Given the description of an element on the screen output the (x, y) to click on. 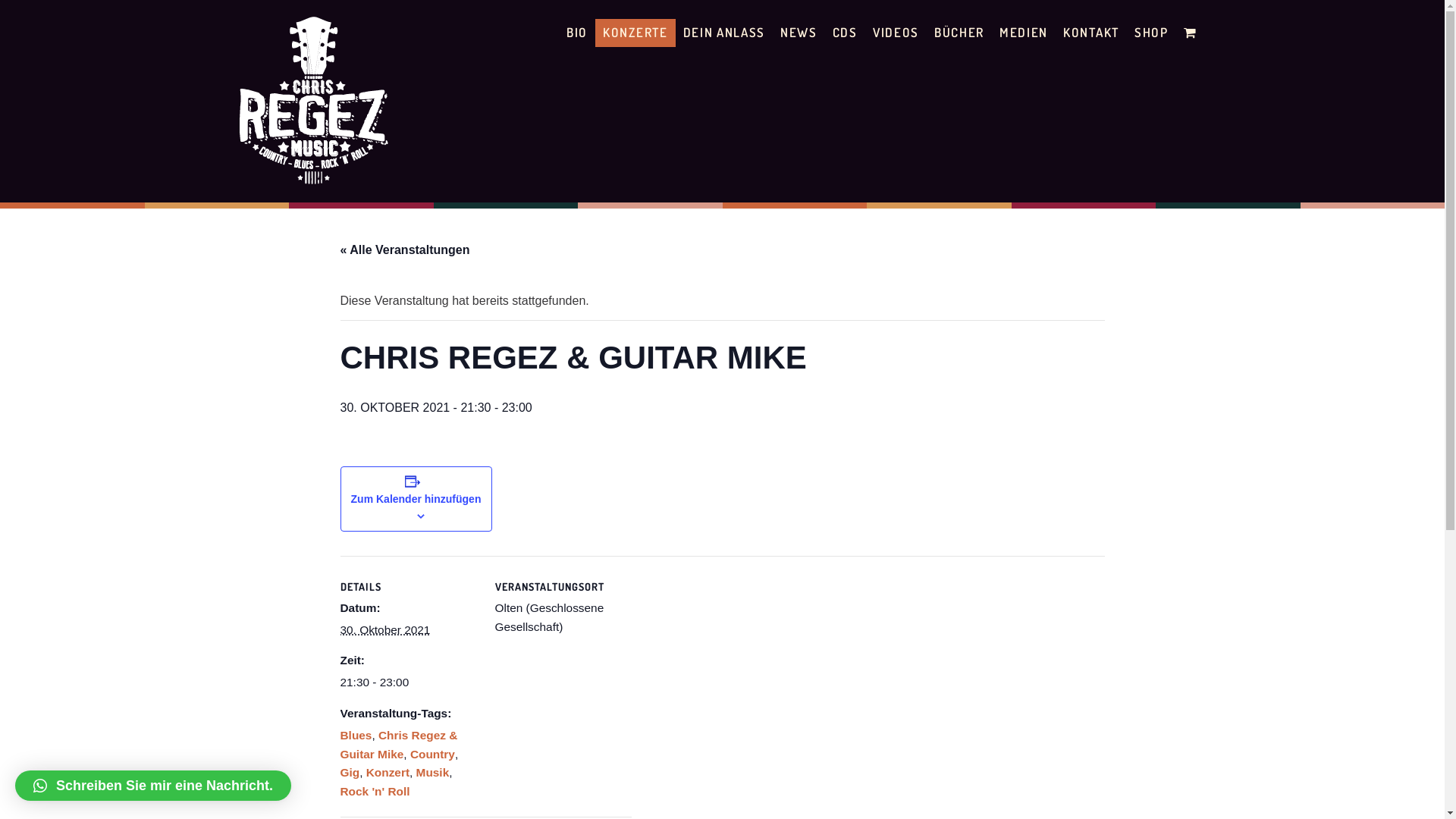
Blues Element type: text (355, 734)
Chris Regez Music Element type: hover (312, 180)
KONZERTE Element type: text (634, 32)
Rock 'n' Roll Element type: text (374, 790)
Schreiben Sie mir eine Nachricht. Element type: text (153, 785)
Gig Element type: text (349, 771)
Chris Regez & Guitar Mike Element type: text (398, 744)
SHOP Element type: text (1151, 32)
Musik Element type: text (432, 771)
MEDIEN Element type: text (1023, 32)
Country Element type: text (432, 753)
Konzert Element type: text (387, 771)
DEIN ANLASS Element type: text (723, 32)
VIDEOS Element type: text (895, 32)
KONTAKT Element type: text (1090, 32)
Zum Shop Element type: hover (1192, 32)
BIO Element type: text (576, 32)
NEWS Element type: text (798, 32)
CDS Element type: text (845, 32)
